Given the description of an element on the screen output the (x, y) to click on. 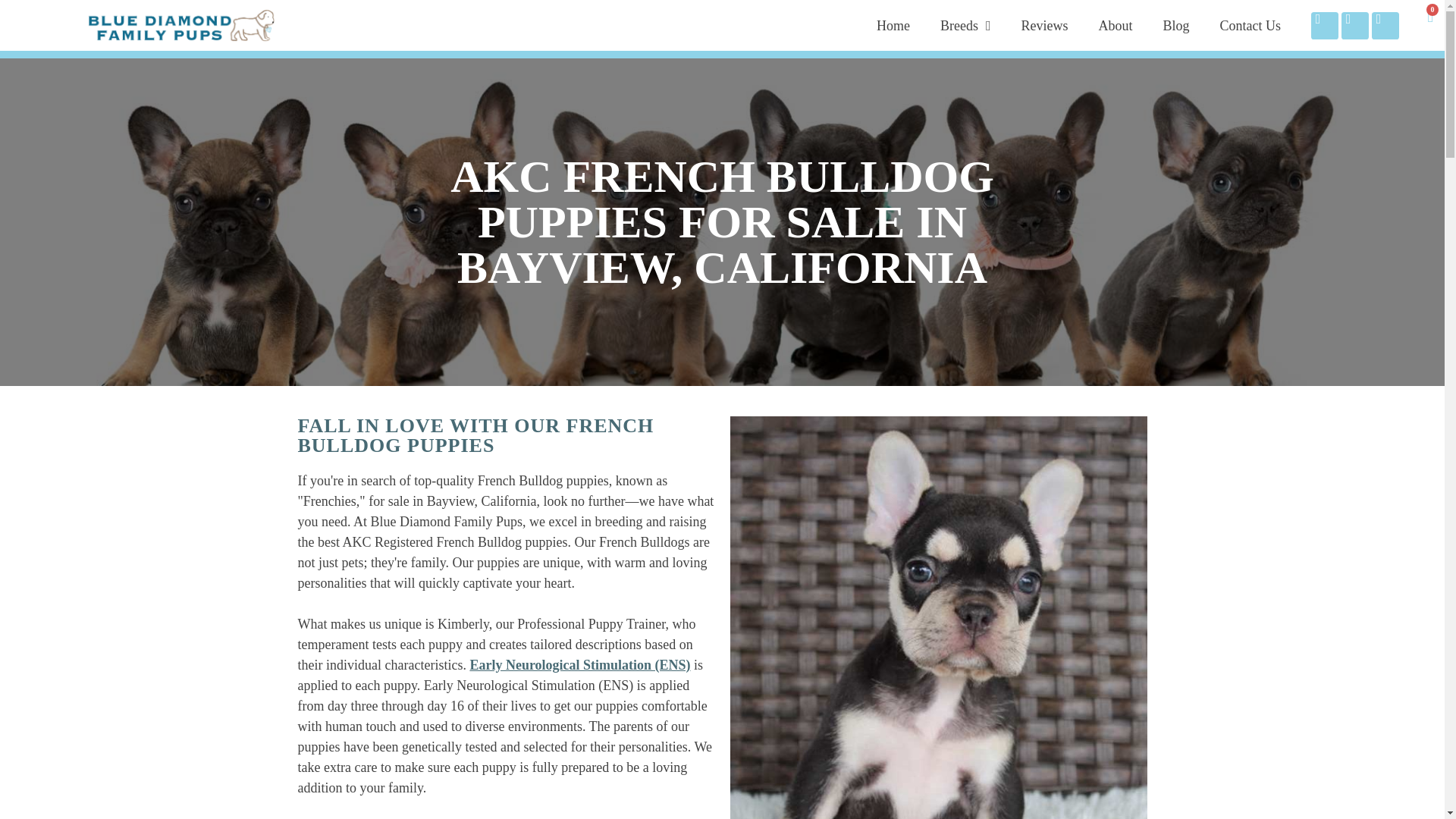
Blue-Diamond-Family-Pups-Logo - Blue Diamond Family Pups (181, 25)
Contact Us (1249, 25)
Breeds (965, 25)
Reviews (1044, 25)
About (1115, 25)
Home (892, 25)
Blog (1175, 25)
